Given the description of an element on the screen output the (x, y) to click on. 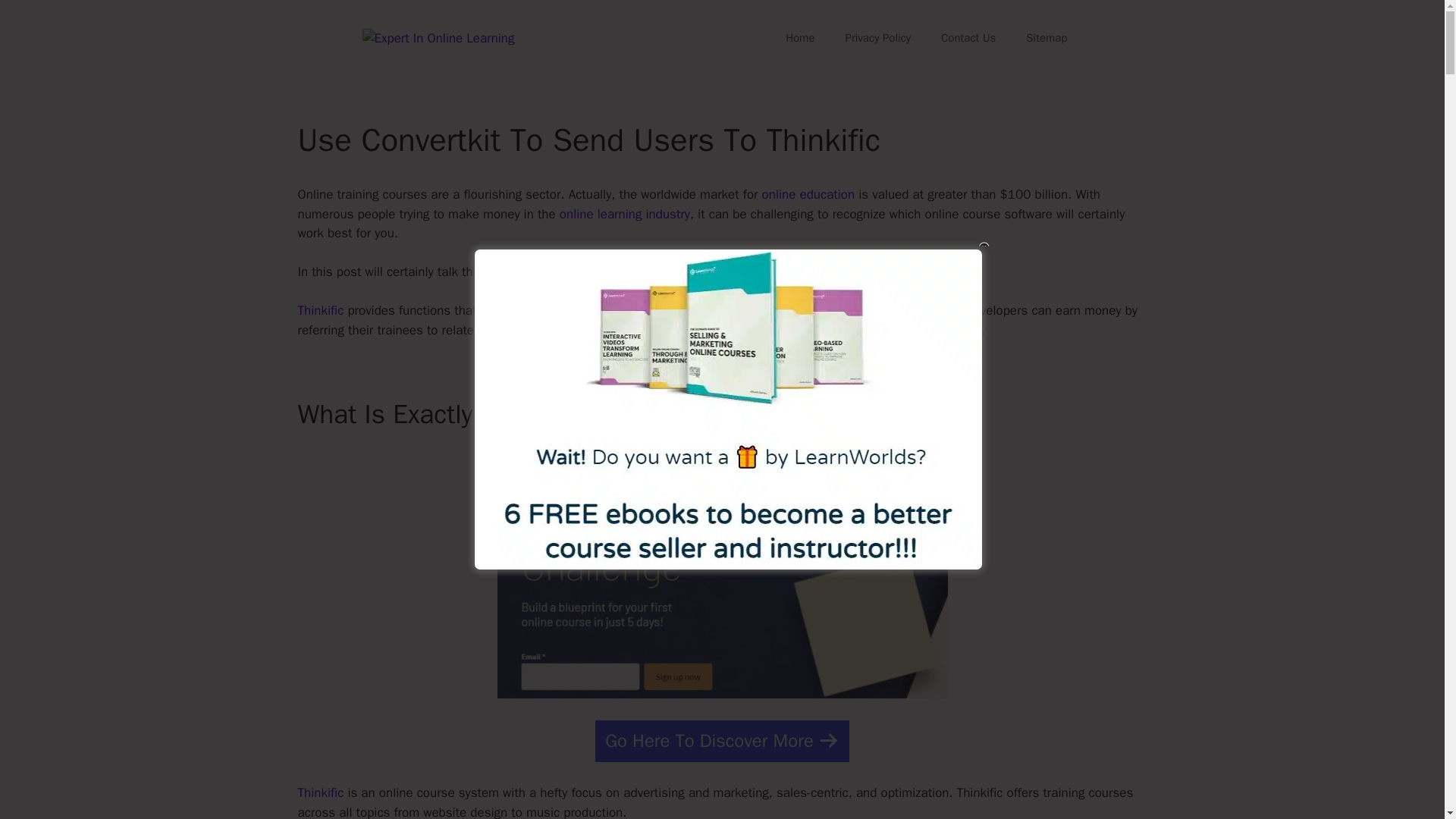
Thinkific (320, 792)
Go Here To Discover More (721, 741)
Sitemap (1045, 37)
Contact Us (968, 37)
online education (808, 194)
Privacy Policy (877, 37)
Home (799, 37)
Thinkific (320, 310)
online learning industry (624, 213)
